Given the description of an element on the screen output the (x, y) to click on. 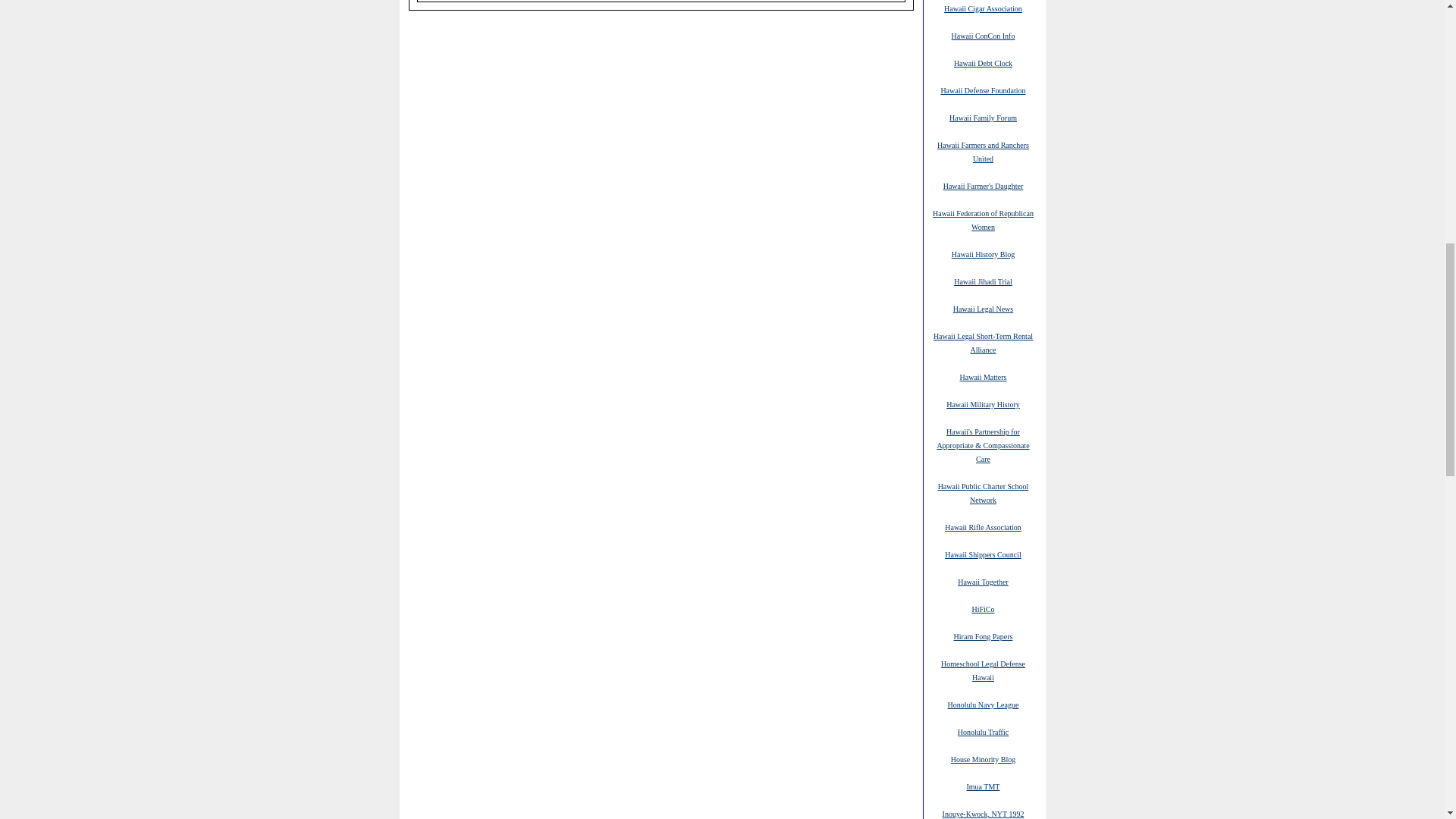
Hawaii Family Forum (982, 117)
Hawaii Defense Foundation (982, 90)
Hawaii Farmers and Ranchers United (983, 151)
Hawaii ConCon Info (983, 35)
Hawaii Debt Clock (982, 62)
Hawaii Cigar Association (982, 8)
